Given the description of an element on the screen output the (x, y) to click on. 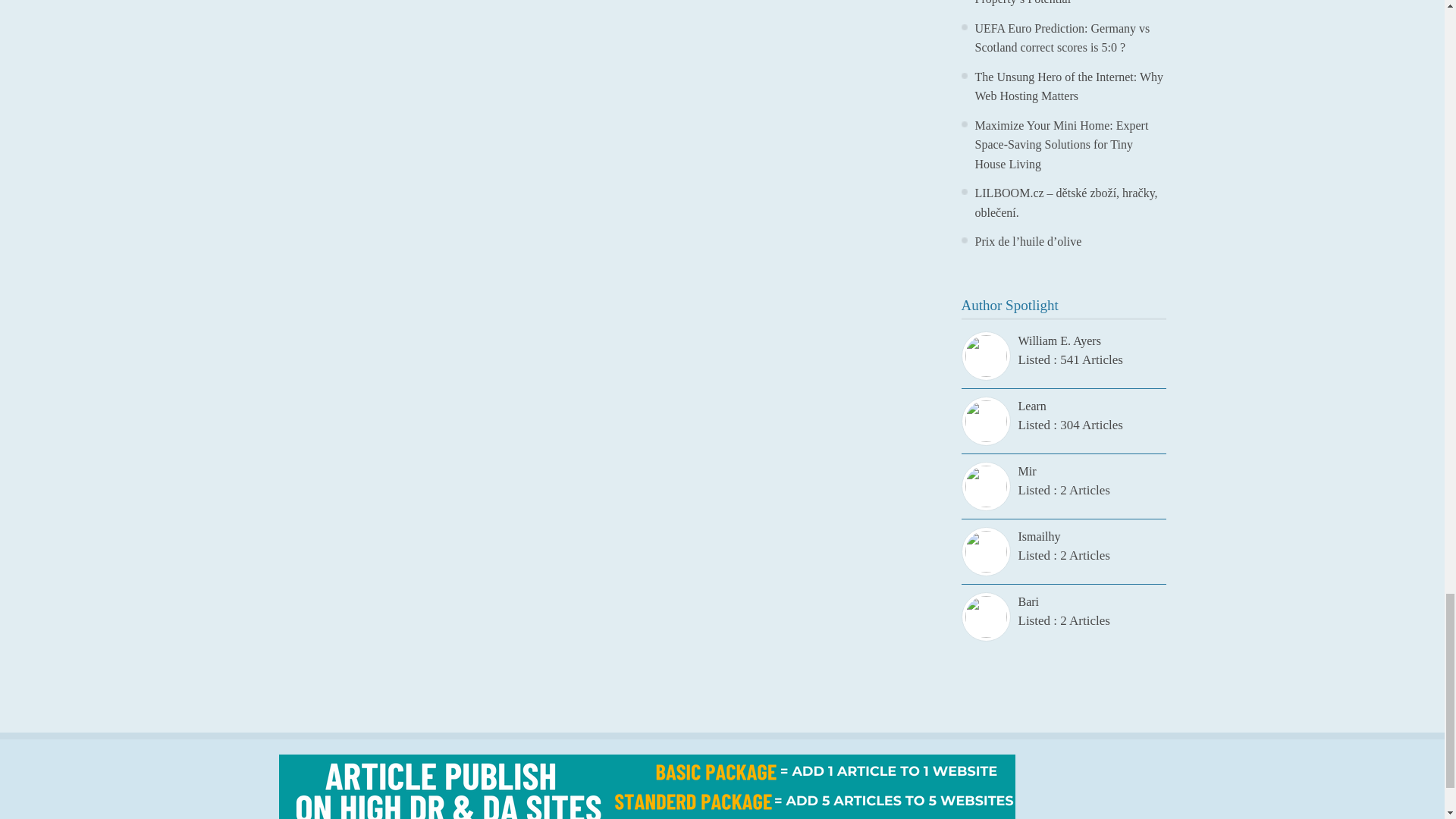
The Unsung Hero of the Internet: Why Web Hosting Matters (1069, 85)
